Given the description of an element on the screen output the (x, y) to click on. 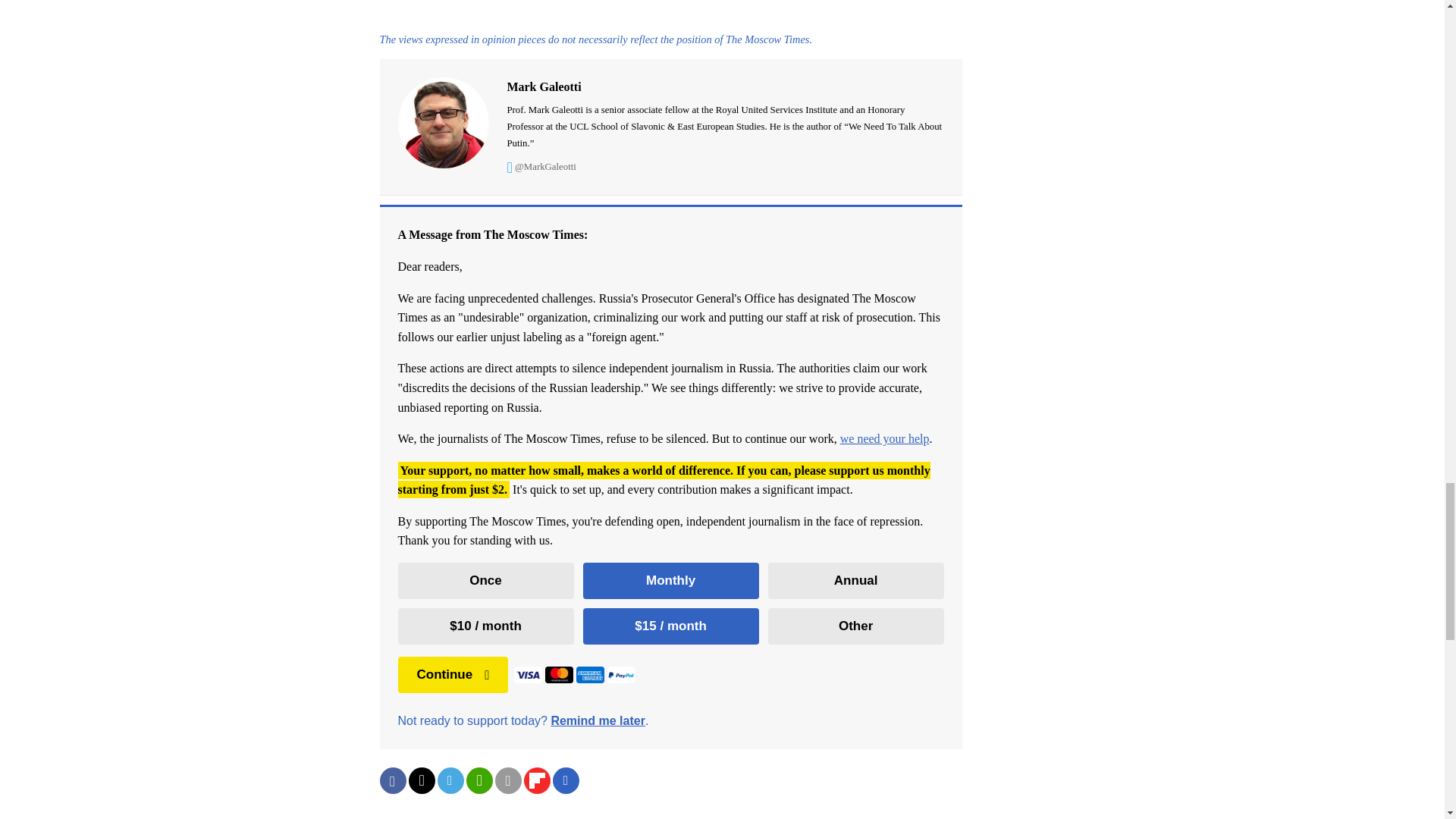
Mark Galeotti (724, 114)
